Given the description of an element on the screen output the (x, y) to click on. 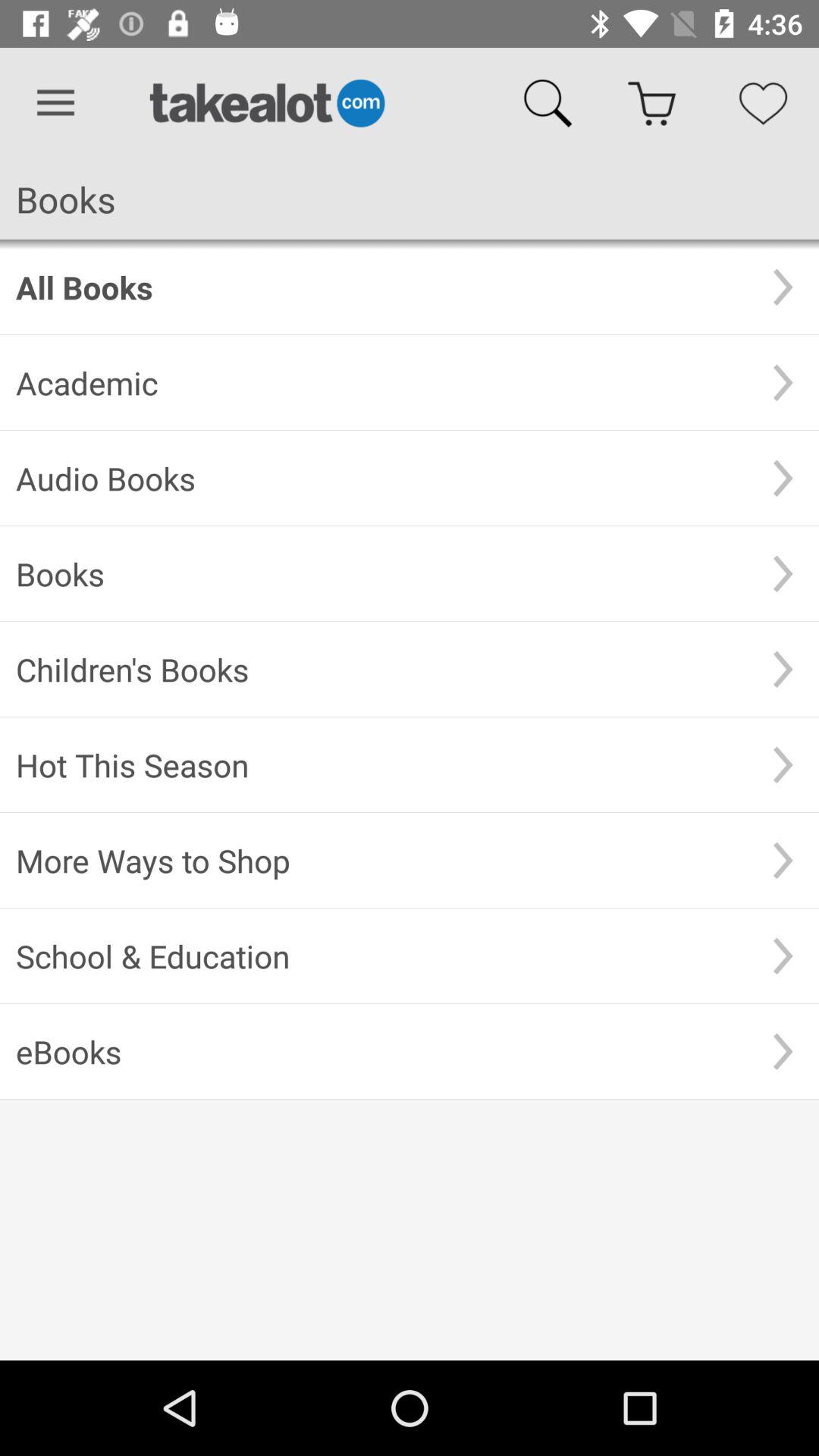
open the icon above the ebooks (381, 955)
